Given the description of an element on the screen output the (x, y) to click on. 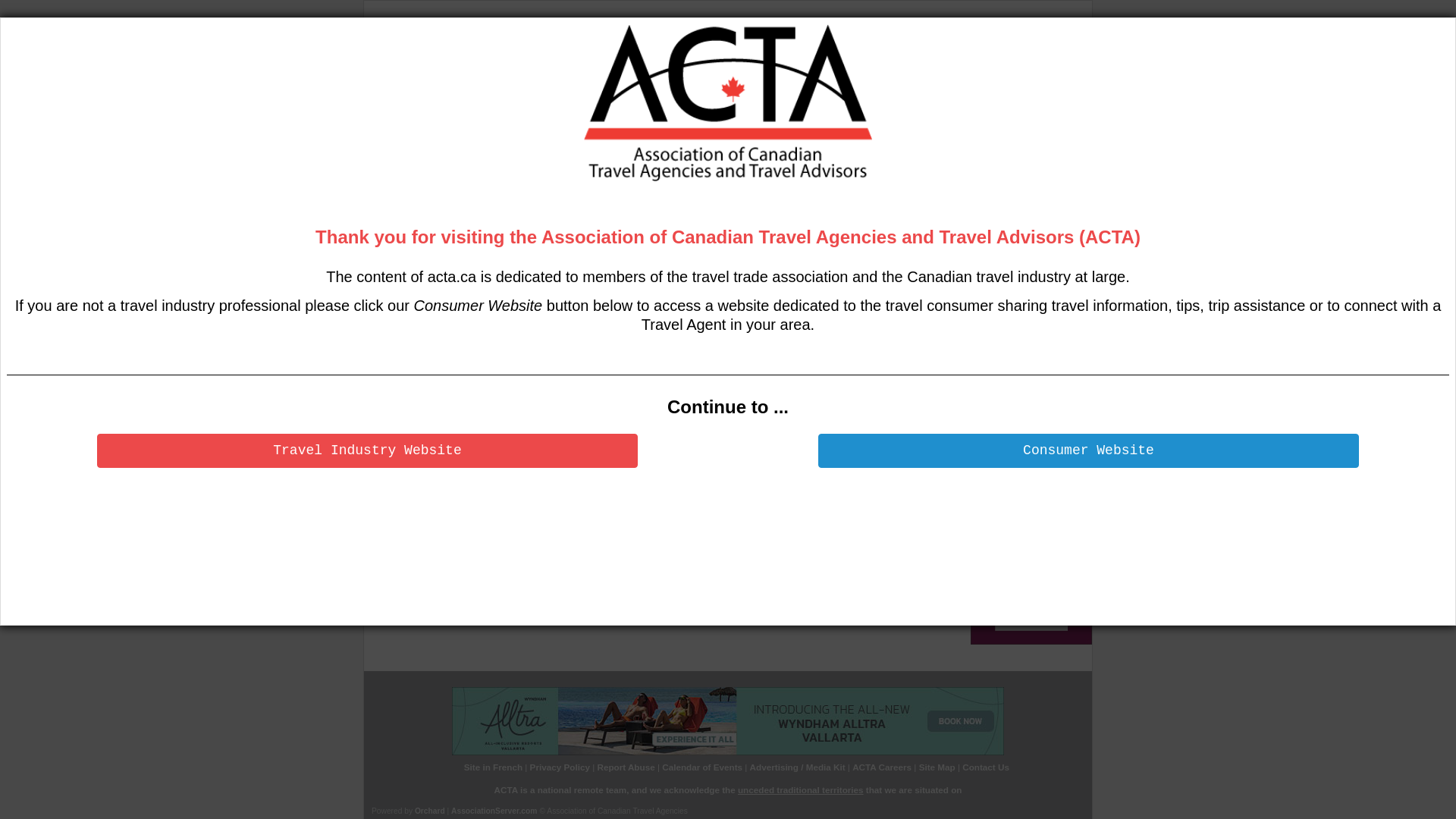
Site Map Element type: text (937, 766)
Privacy Policy Element type: text (559, 766)
CONTACT US Element type: text (413, 150)
Log On Element type: text (542, 179)
Report Abuse Element type: text (625, 766)
Orchard Element type: text (429, 810)
HOME Element type: text (401, 123)
AssociationServer.com Element type: text (493, 810)
MEMBER RESOURCES Element type: text (875, 123)
Sign In Element type: text (421, 440)
ACTA Careers Element type: text (881, 766)
ABOUT Element type: text (463, 123)
BECOME A TRAVEL ADVISOR Element type: text (748, 123)
Join Element type: text (570, 179)
unceded traditional territories Element type: text (800, 789)
Travel Industry Website Element type: text (367, 450)
3rd party ad content Element type: hover (816, 62)
Advertising / Media Kit Element type: text (797, 766)
EDUCATION Element type: text (640, 123)
Calendar of Events Element type: text (702, 766)
info@acta.ca Element type: text (782, 512)
Consumer Website Element type: text (1088, 450)
reset your password Element type: text (604, 512)
Site in French Element type: text (493, 766)
MEMBER BENEFITS Element type: text (547, 123)
Contact Us Element type: text (985, 766)
MEMBERSHIP Element type: text (974, 123)
